Given the description of an element on the screen output the (x, y) to click on. 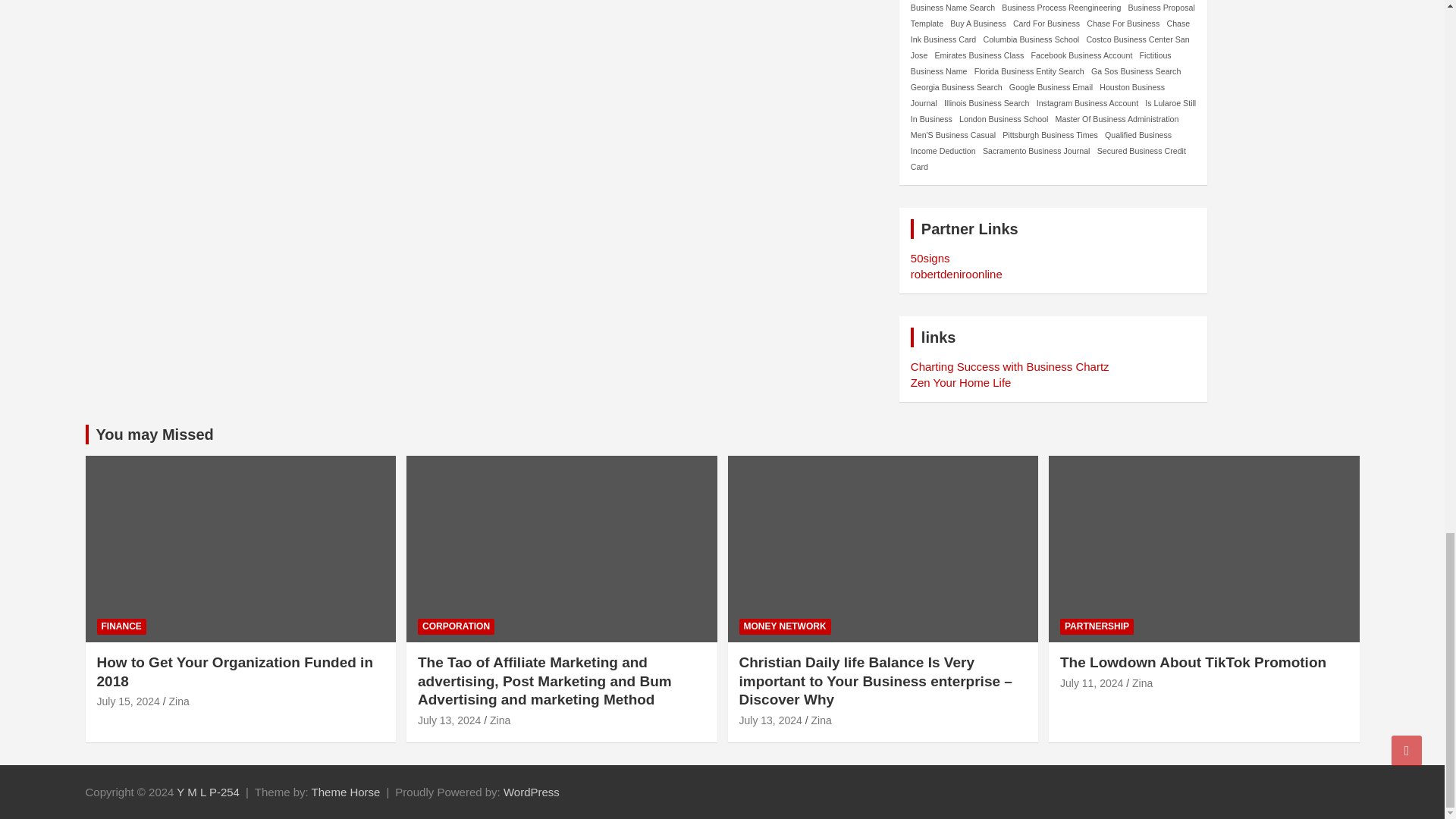
Y M L P-254 (208, 791)
How to Get Your Organization Funded in 2018 (128, 701)
Theme Horse (345, 791)
The Lowdown About TikTok Promotion (1090, 683)
